Given the description of an element on the screen output the (x, y) to click on. 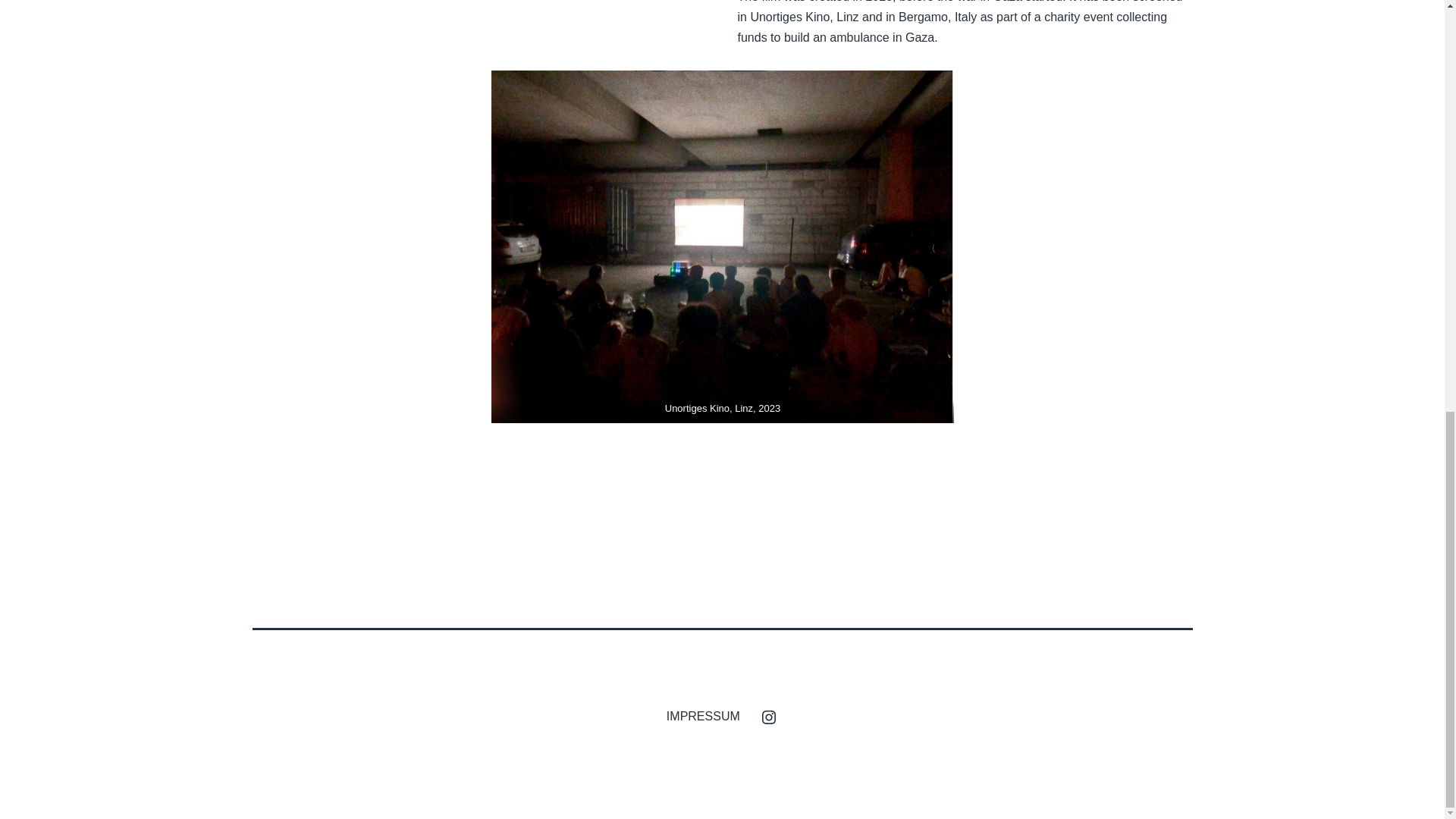
IMPRESSUM (702, 715)
instagram (768, 715)
